Given the description of an element on the screen output the (x, y) to click on. 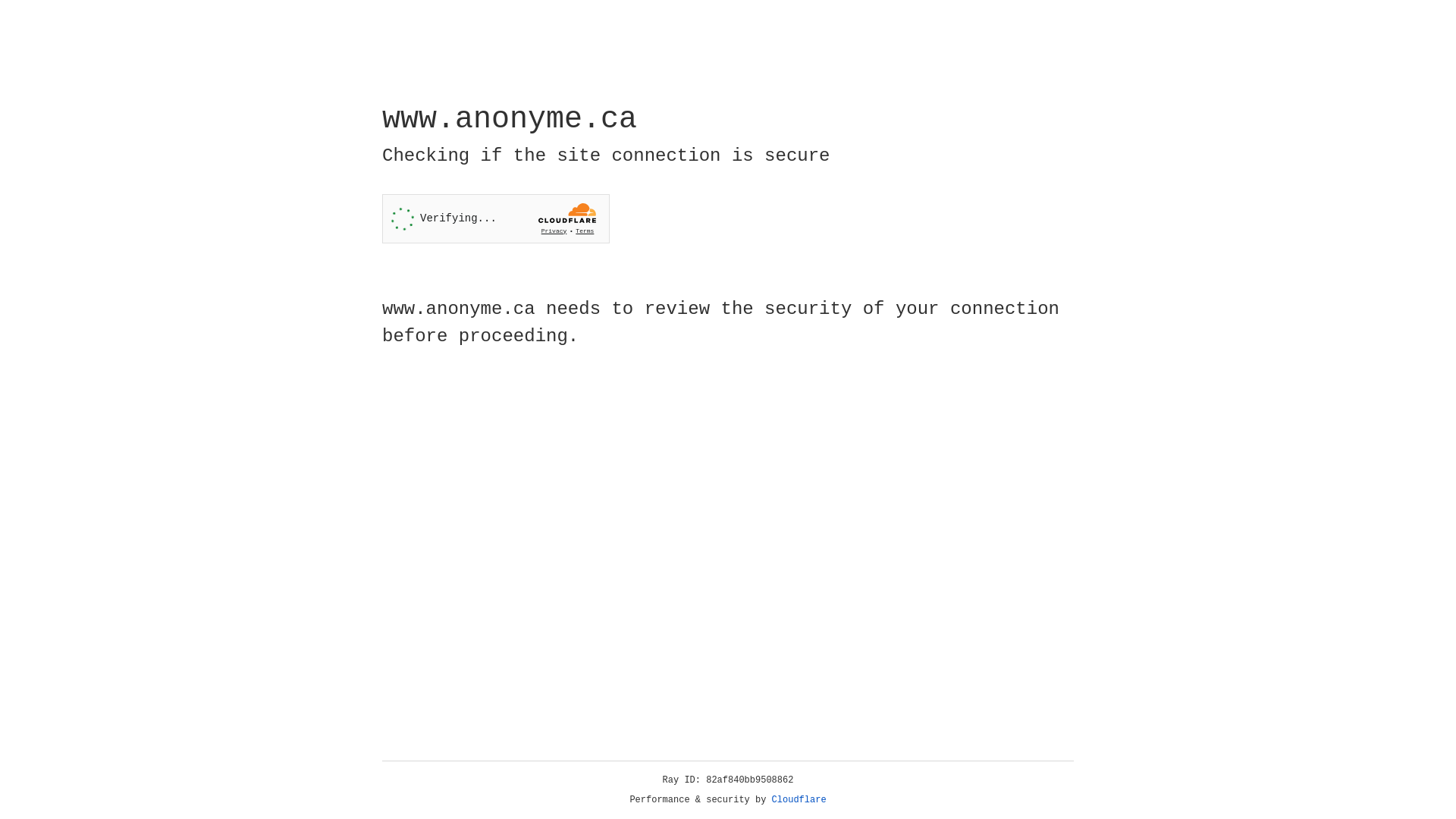
Cloudflare Element type: text (798, 799)
Widget containing a Cloudflare security challenge Element type: hover (495, 218)
